Given the description of an element on the screen output the (x, y) to click on. 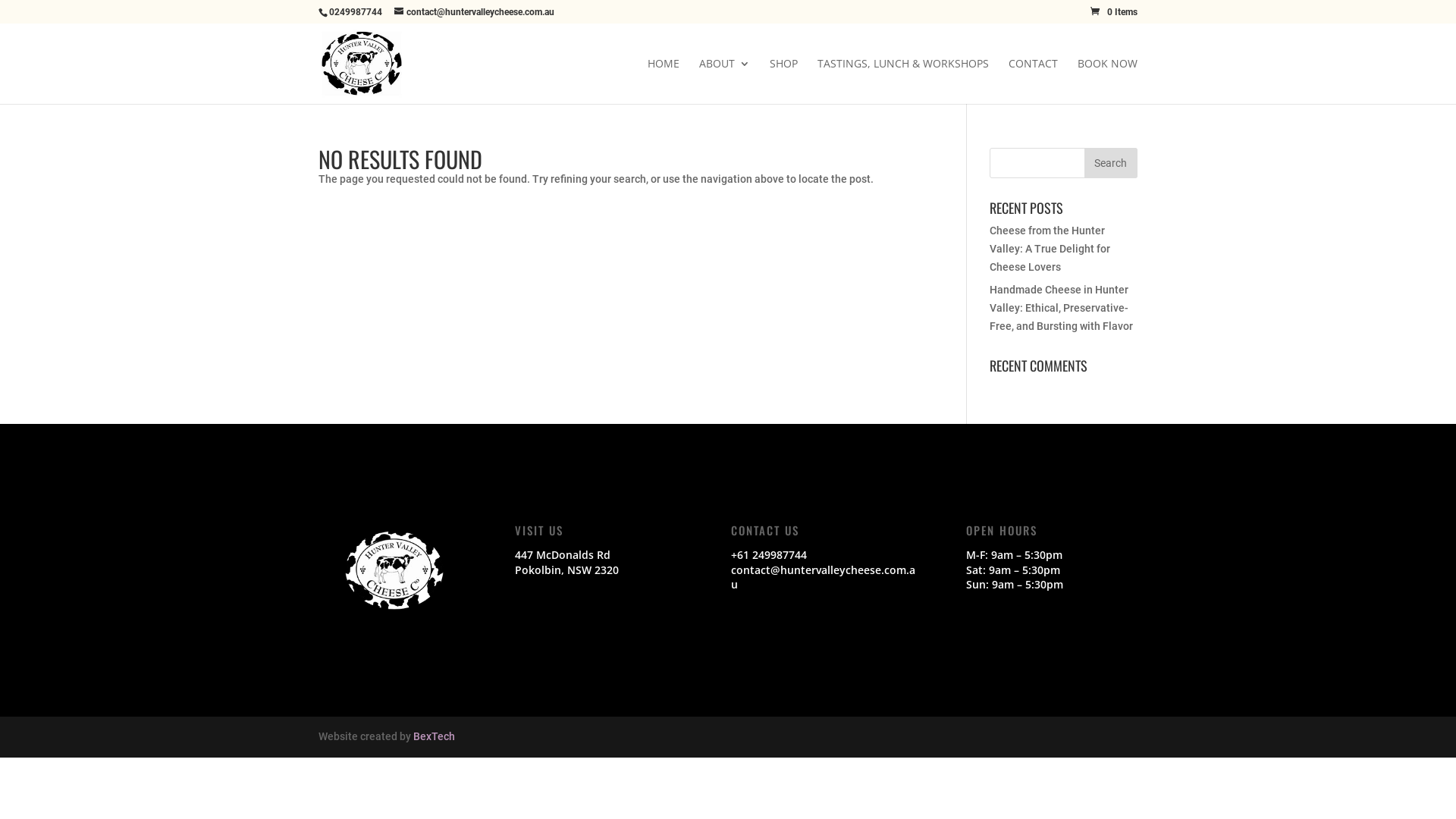
CONTACT Element type: text (1032, 80)
Search Element type: text (1110, 162)
contact@huntervalleycheese.com.au Element type: text (474, 11)
BOOK NOW Element type: text (1107, 80)
0249987744 Element type: text (355, 11)
ABOUT Element type: text (724, 80)
HOME Element type: text (663, 80)
BexTech Element type: text (434, 736)
logo-hv-cheese-transparent Element type: hover (394, 569)
SHOP Element type: text (783, 80)
0 Items Element type: text (1113, 11)
TASTINGS, LUNCH & WORKSHOPS Element type: text (902, 80)
